Given the description of an element on the screen output the (x, y) to click on. 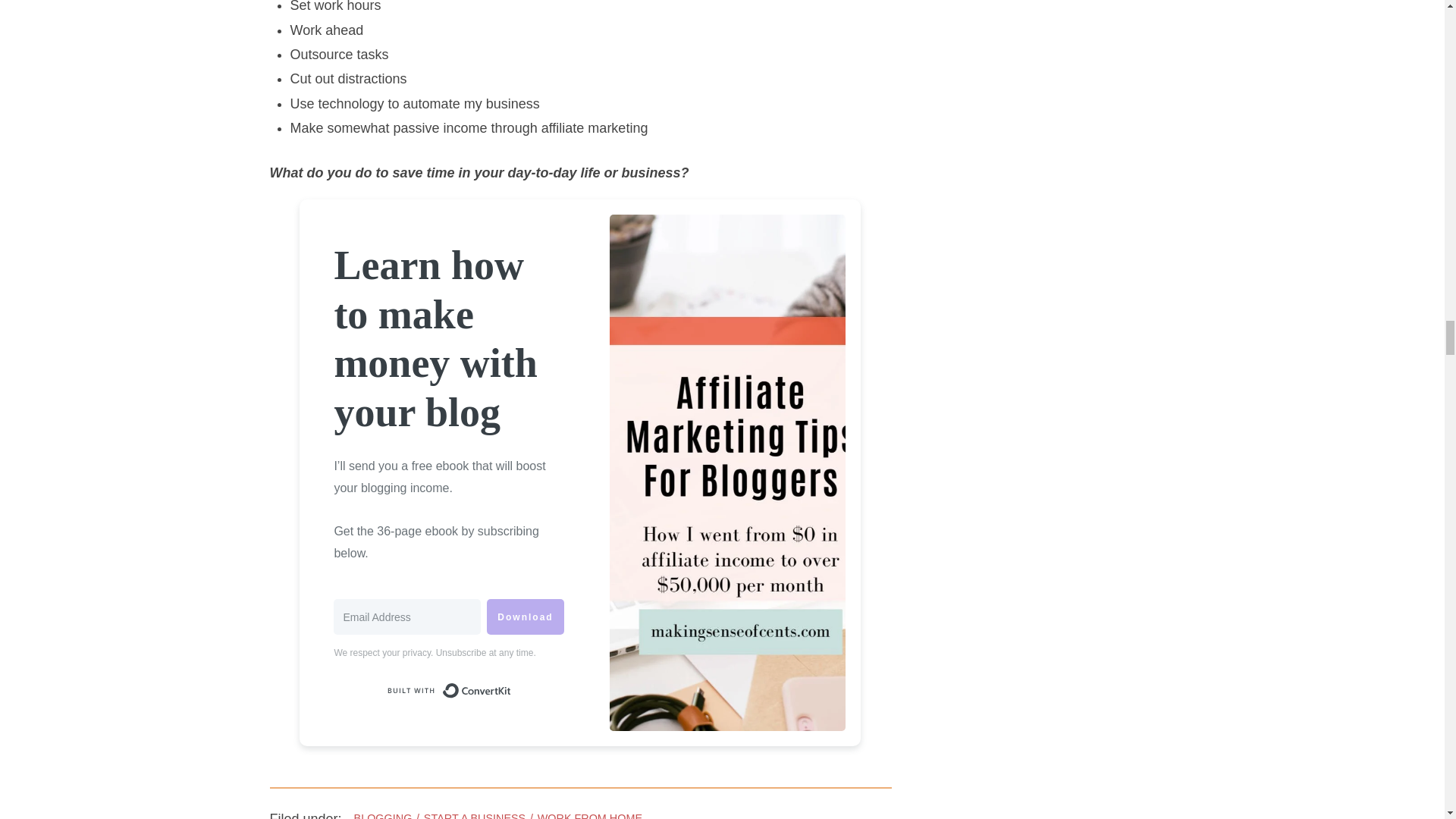
WORK FROM HOME (589, 815)
BLOGGING (382, 815)
START A BUSINESS (474, 815)
Download (524, 616)
Built with ConvertKit (448, 690)
